Given the description of an element on the screen output the (x, y) to click on. 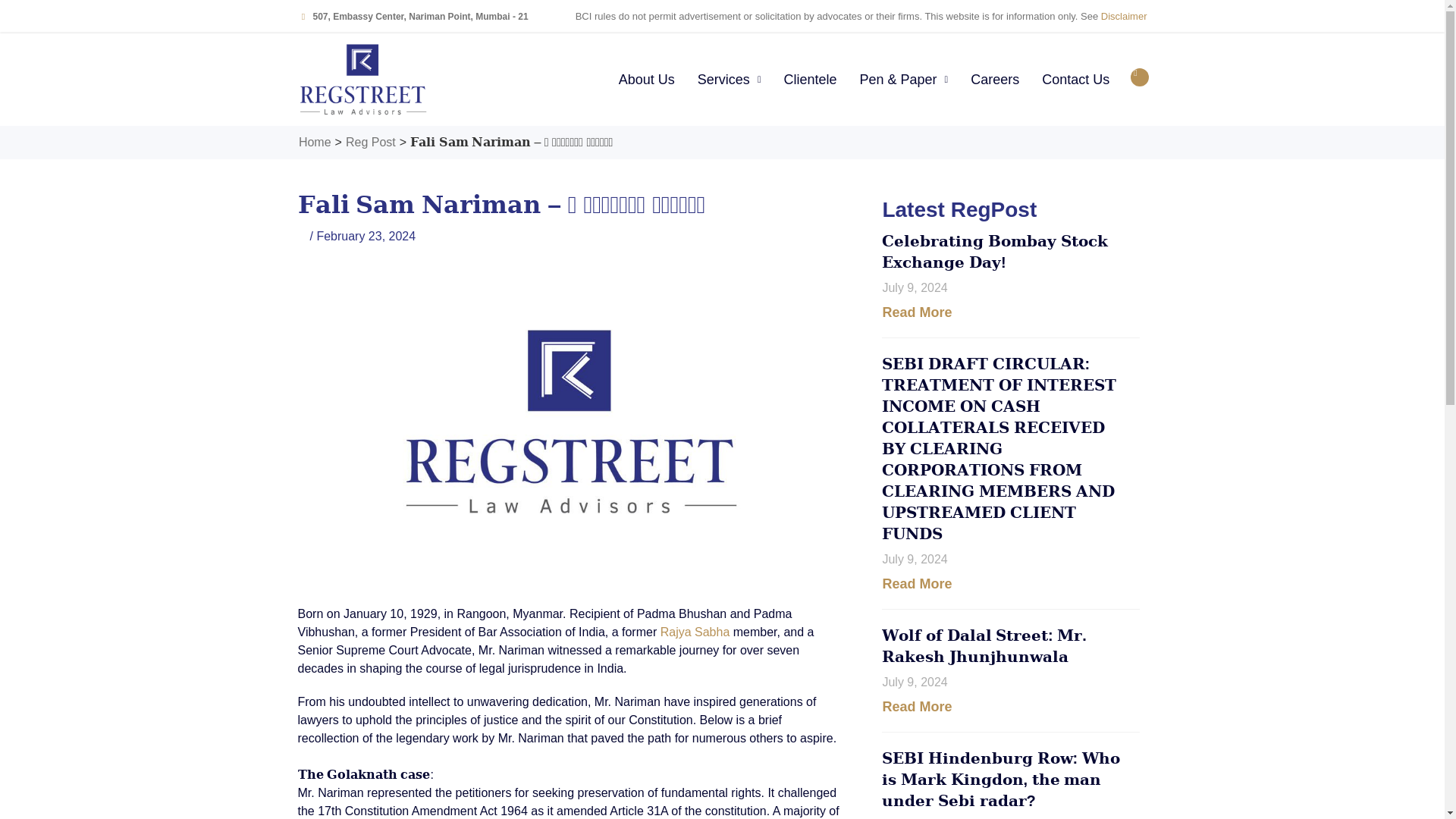
Careers (994, 79)
Contact Us (1075, 79)
Disclaimer (1123, 16)
Clientele (809, 79)
About Us (646, 79)
Services (729, 79)
